Given the description of an element on the screen output the (x, y) to click on. 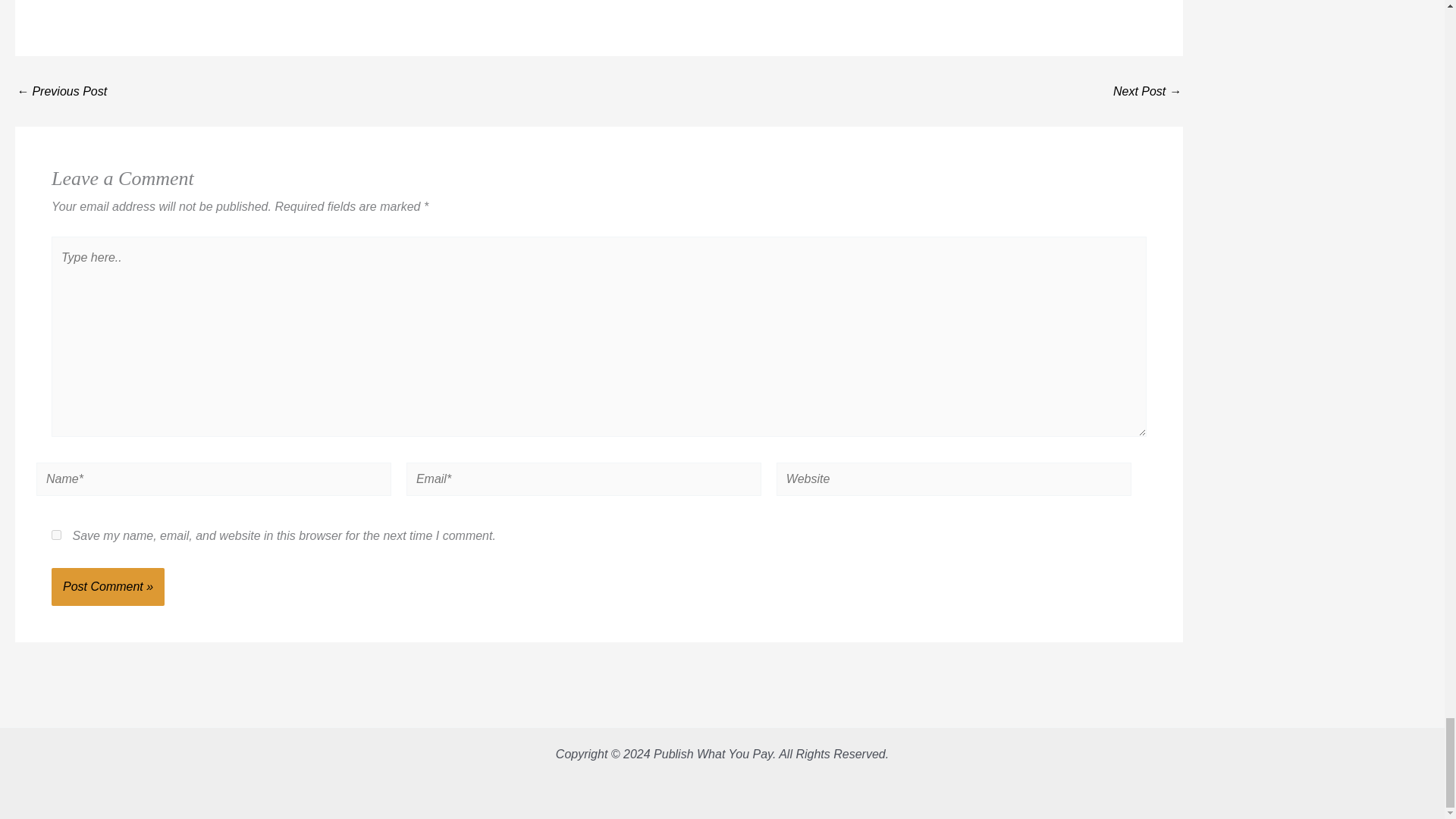
yes (55, 534)
